Given the description of an element on the screen output the (x, y) to click on. 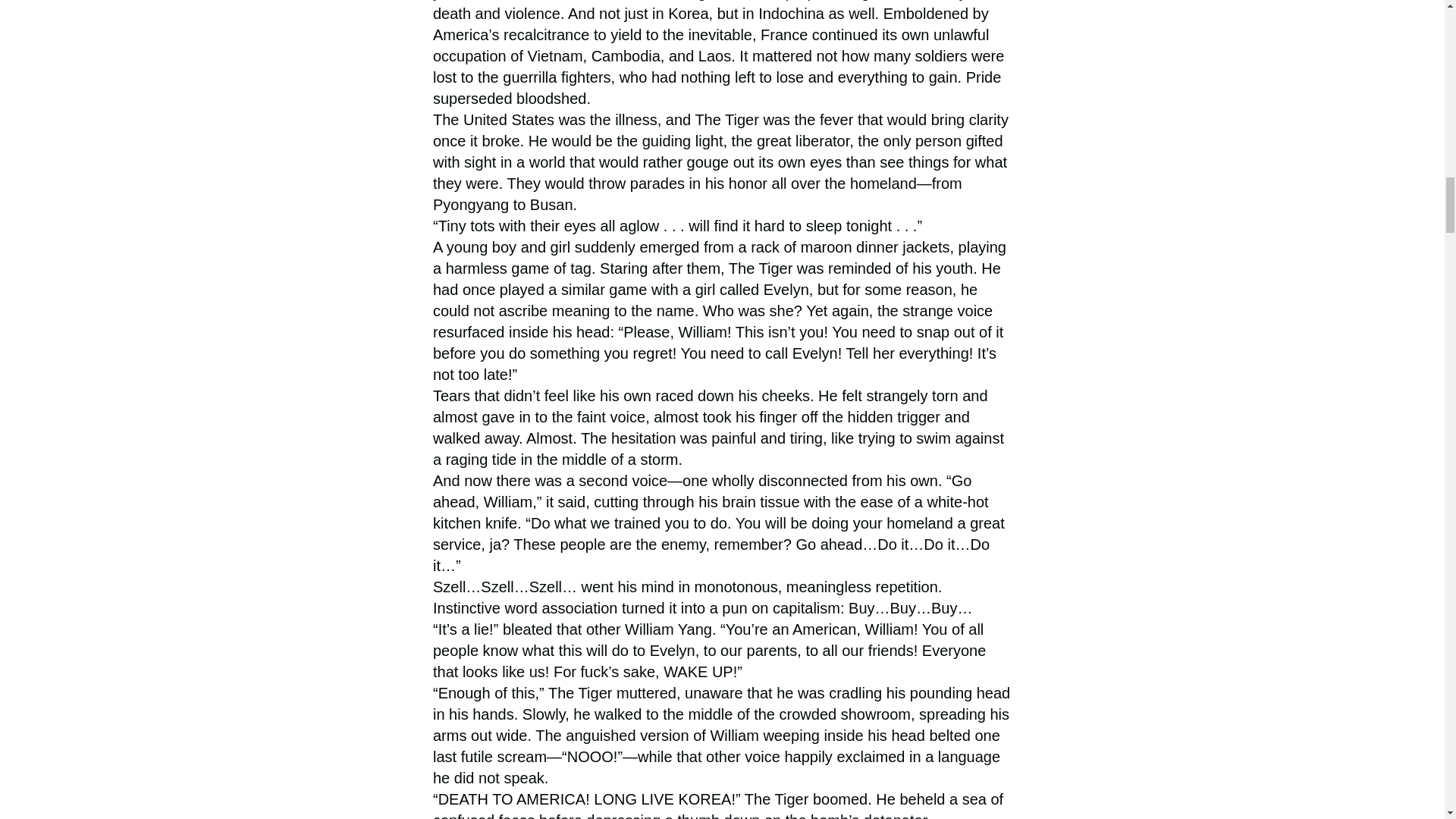
Page 5 (721, 803)
Page 3 (721, 54)
